Given the description of an element on the screen output the (x, y) to click on. 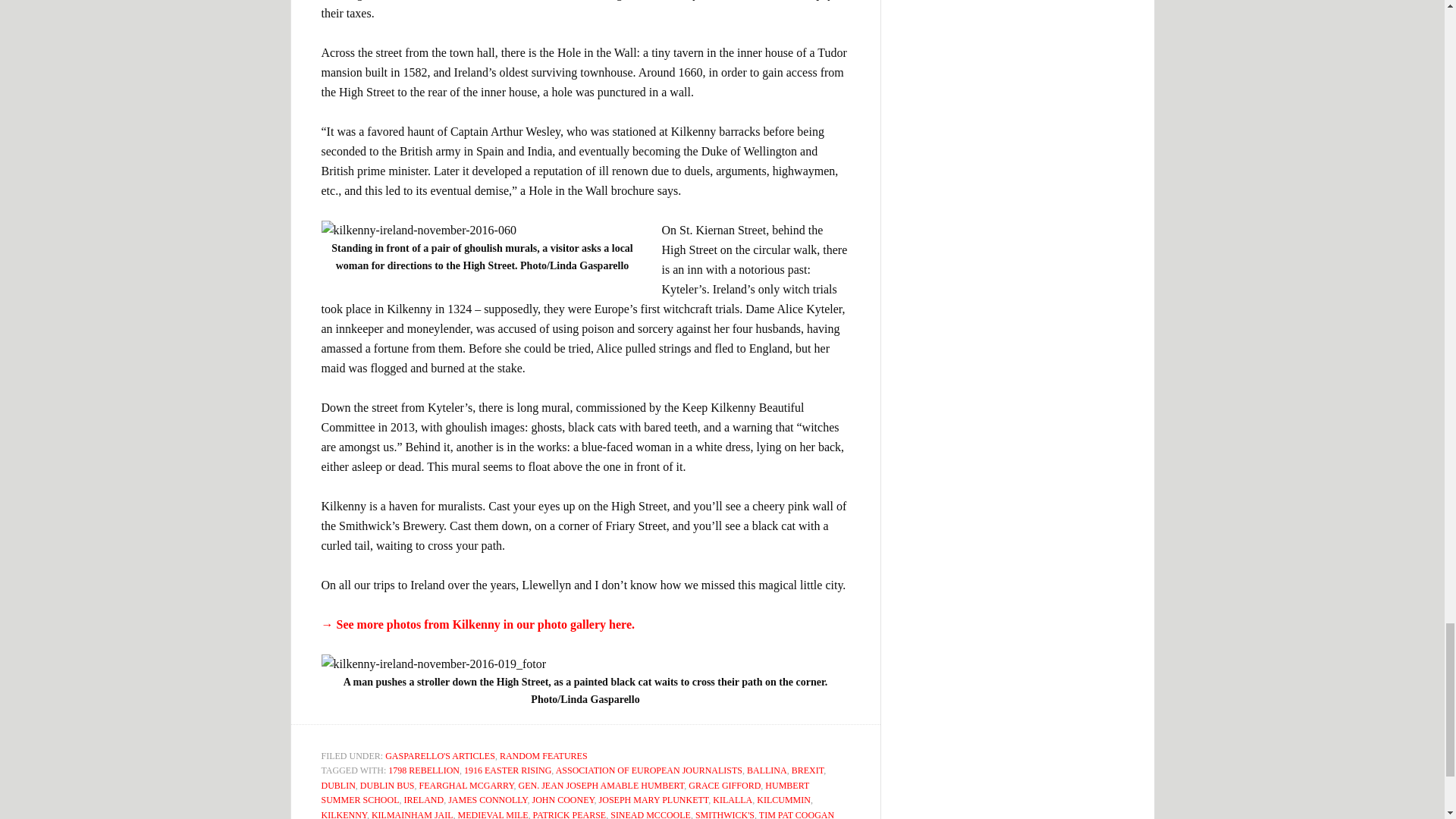
GRACE GIFFORD (724, 785)
KILMAINHAM JAIL (411, 814)
BREXIT (808, 769)
JOHN COONEY (562, 799)
SINEAD MCCOOLE (650, 814)
KILKENNY (343, 814)
1916 EASTER RISING (507, 769)
FEARGHAL MCGARRY (466, 785)
1798 REBELLION (424, 769)
JOSEPH MARY PLUNKETT (653, 799)
